Given the description of an element on the screen output the (x, y) to click on. 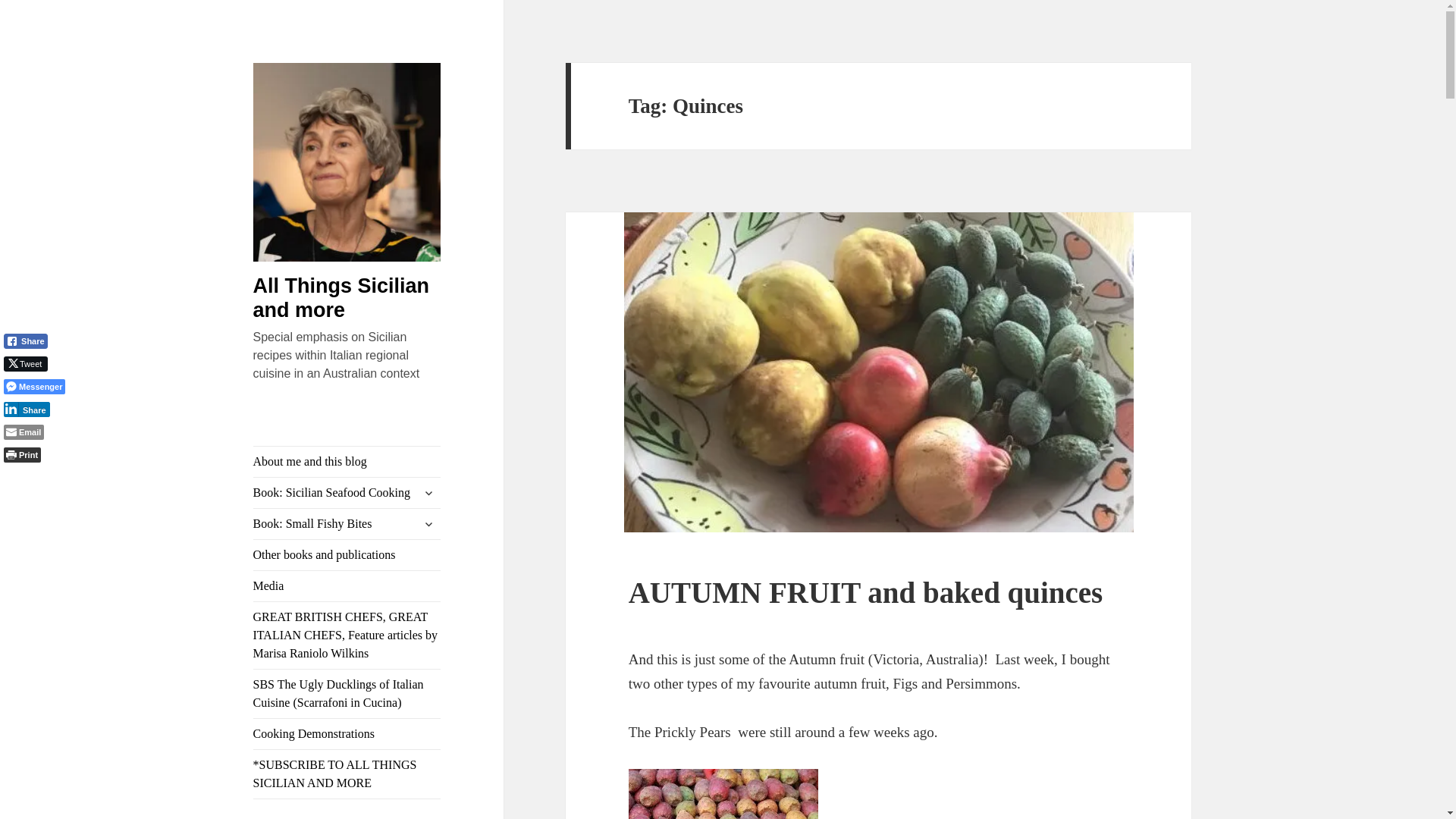
Book: Small Fishy Bites (347, 523)
Other books and publications (347, 554)
All Things Sicilian and more (341, 297)
About me and this blog (347, 461)
expand child menu (428, 492)
Book: Sicilian Seafood Cooking (347, 492)
Cooking Demonstrations (347, 734)
expand child menu (428, 523)
Media (347, 585)
